Given the description of an element on the screen output the (x, y) to click on. 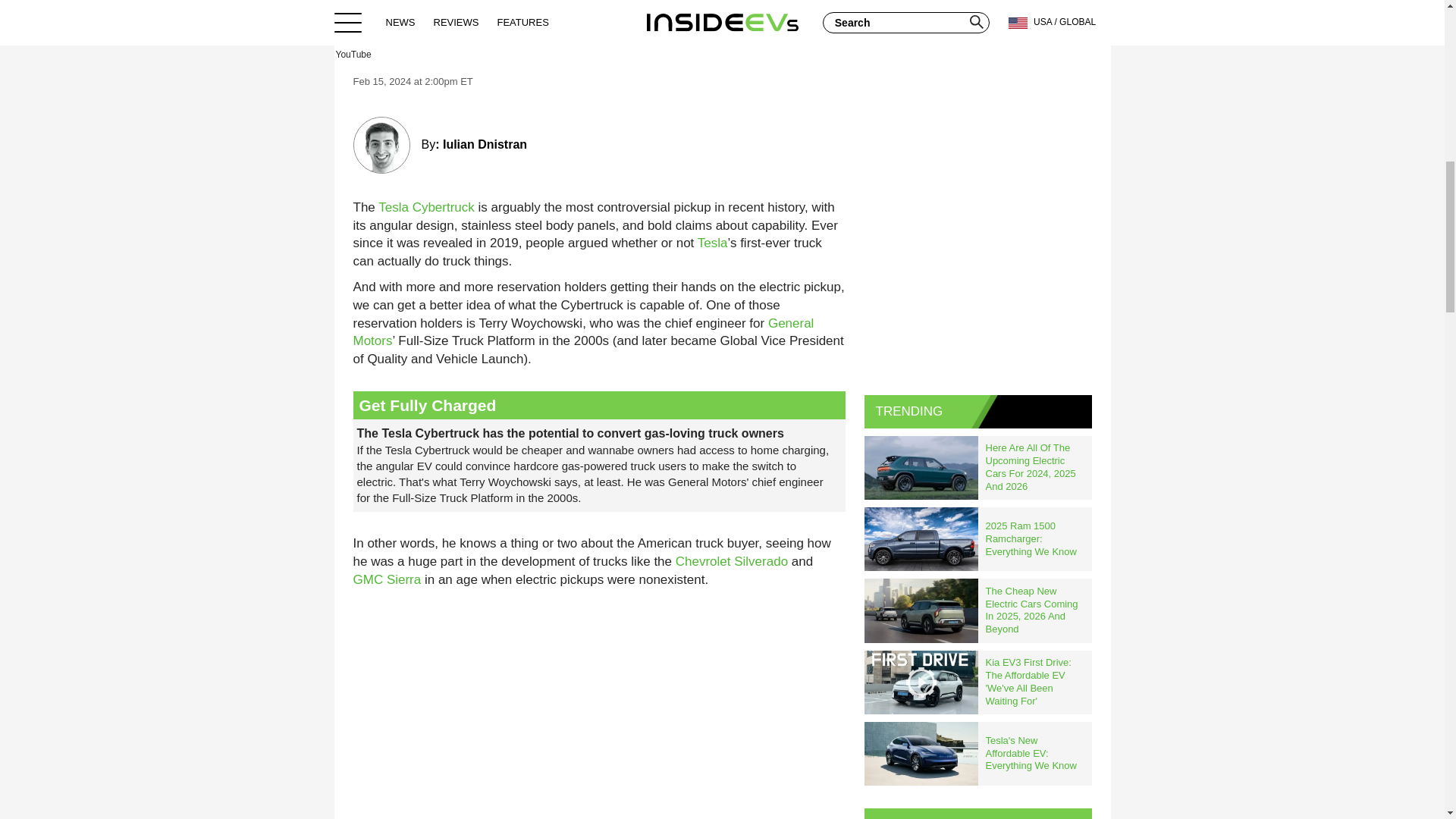
Tesla (712, 242)
Chevrolet Silverado (731, 561)
Iulian Dnistran (484, 144)
GMC Sierra (387, 579)
Tesla Cybertruck (426, 206)
YouTube (721, 30)
General Motors (583, 332)
